Given the description of an element on the screen output the (x, y) to click on. 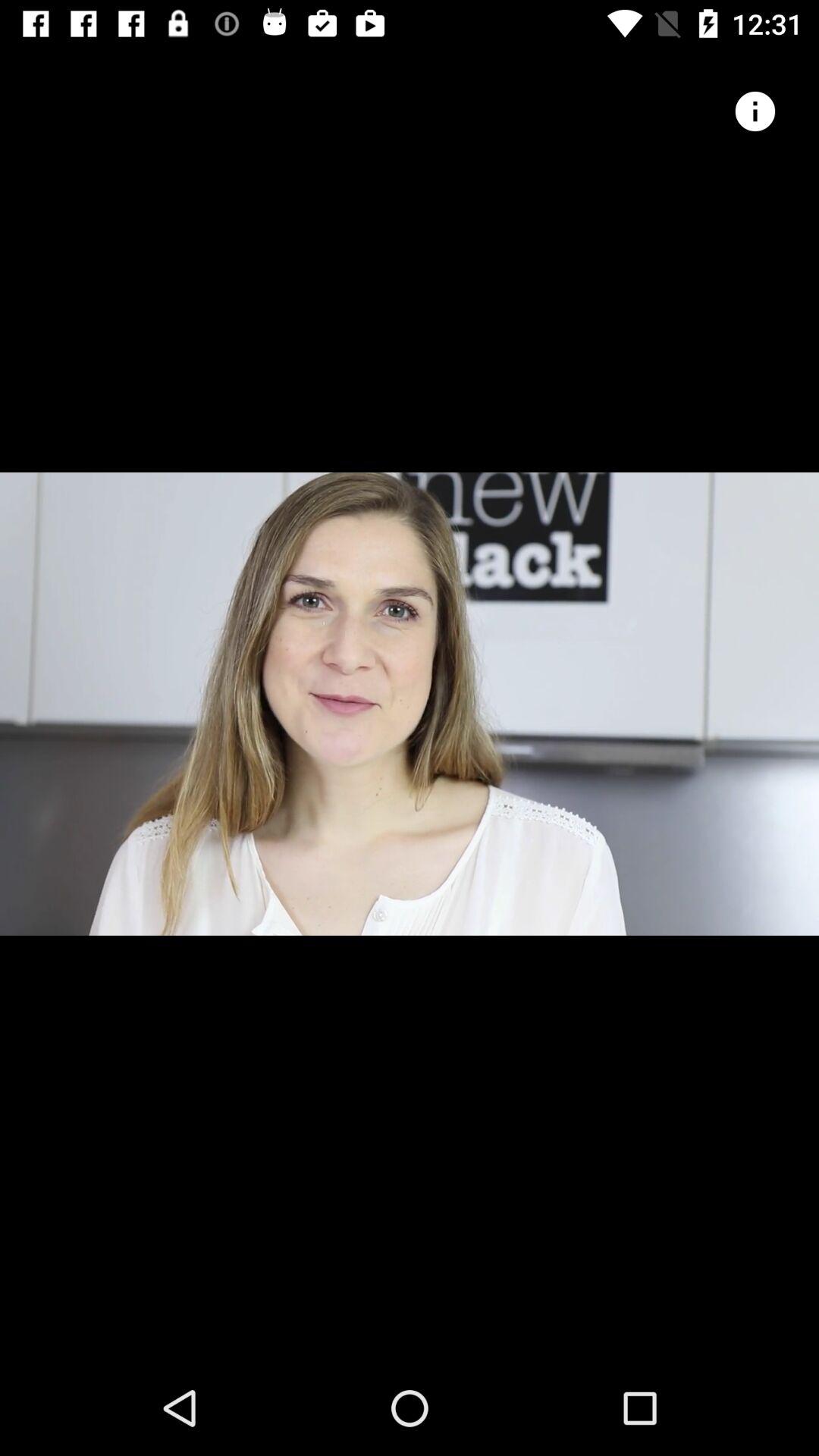
get information (755, 111)
